Given the description of an element on the screen output the (x, y) to click on. 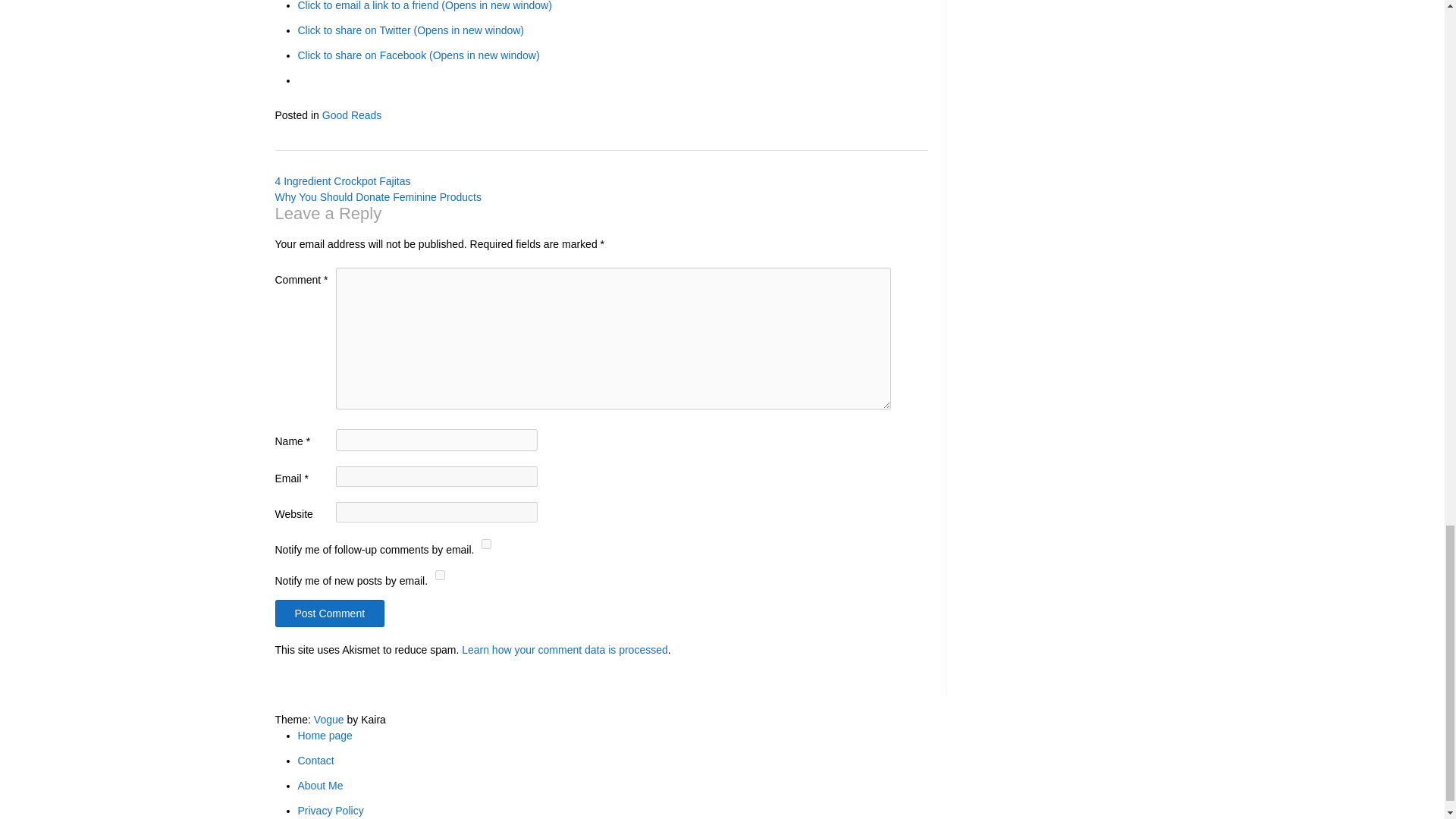
Why You Should Donate Feminine Products (377, 196)
Good Reads (351, 114)
Click to share on Twitter (410, 30)
Click to email a link to a friend (424, 5)
Learn how your comment data is processed (564, 649)
Post Comment (329, 613)
Click to share on Facebook (417, 55)
subscribe (486, 543)
subscribe (440, 574)
Post Comment (329, 613)
4 Ingredient Crockpot Fajitas (342, 181)
